Given the description of an element on the screen output the (x, y) to click on. 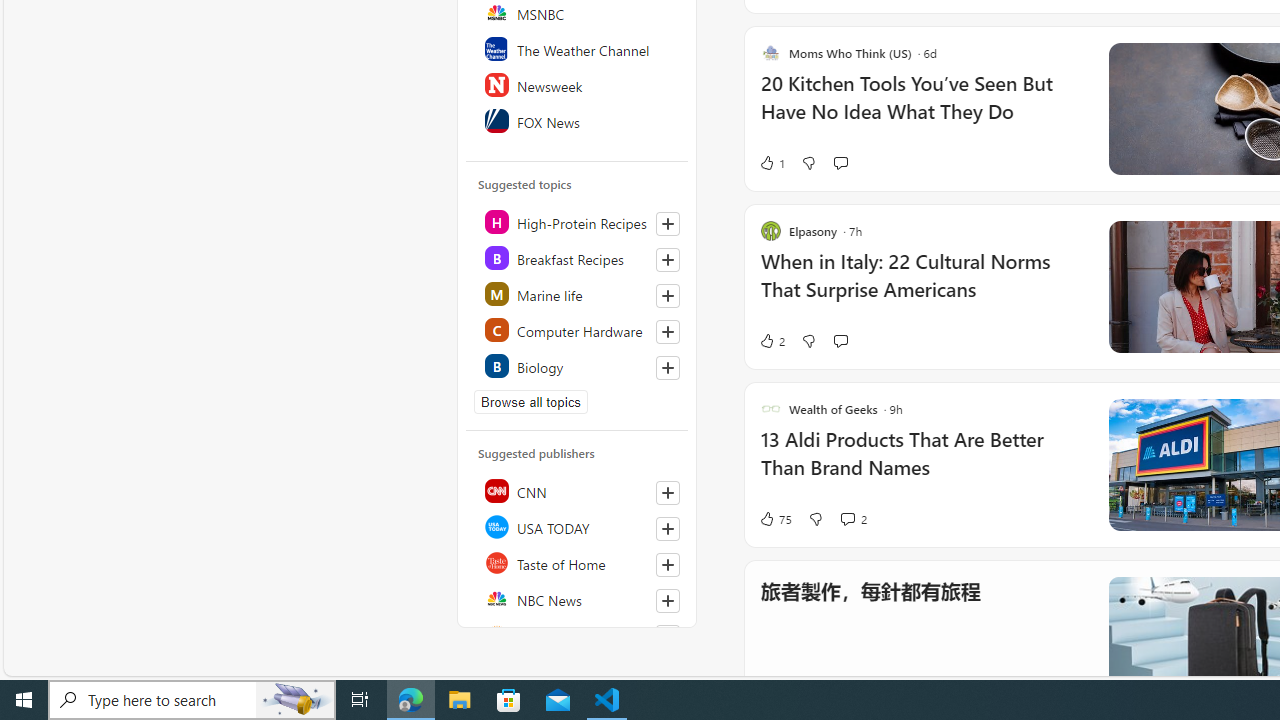
When in Italy: 22 Cultural Norms That Surprise Americans (922, 285)
View comments 2 Comment (847, 519)
CNN (578, 490)
USA TODAY (578, 526)
Newsweek (578, 84)
Start the conversation (840, 340)
The Weather Channel (578, 48)
Reuters (578, 634)
Dislike (815, 518)
2 Like (771, 340)
Follow this topic (667, 367)
